Given the description of an element on the screen output the (x, y) to click on. 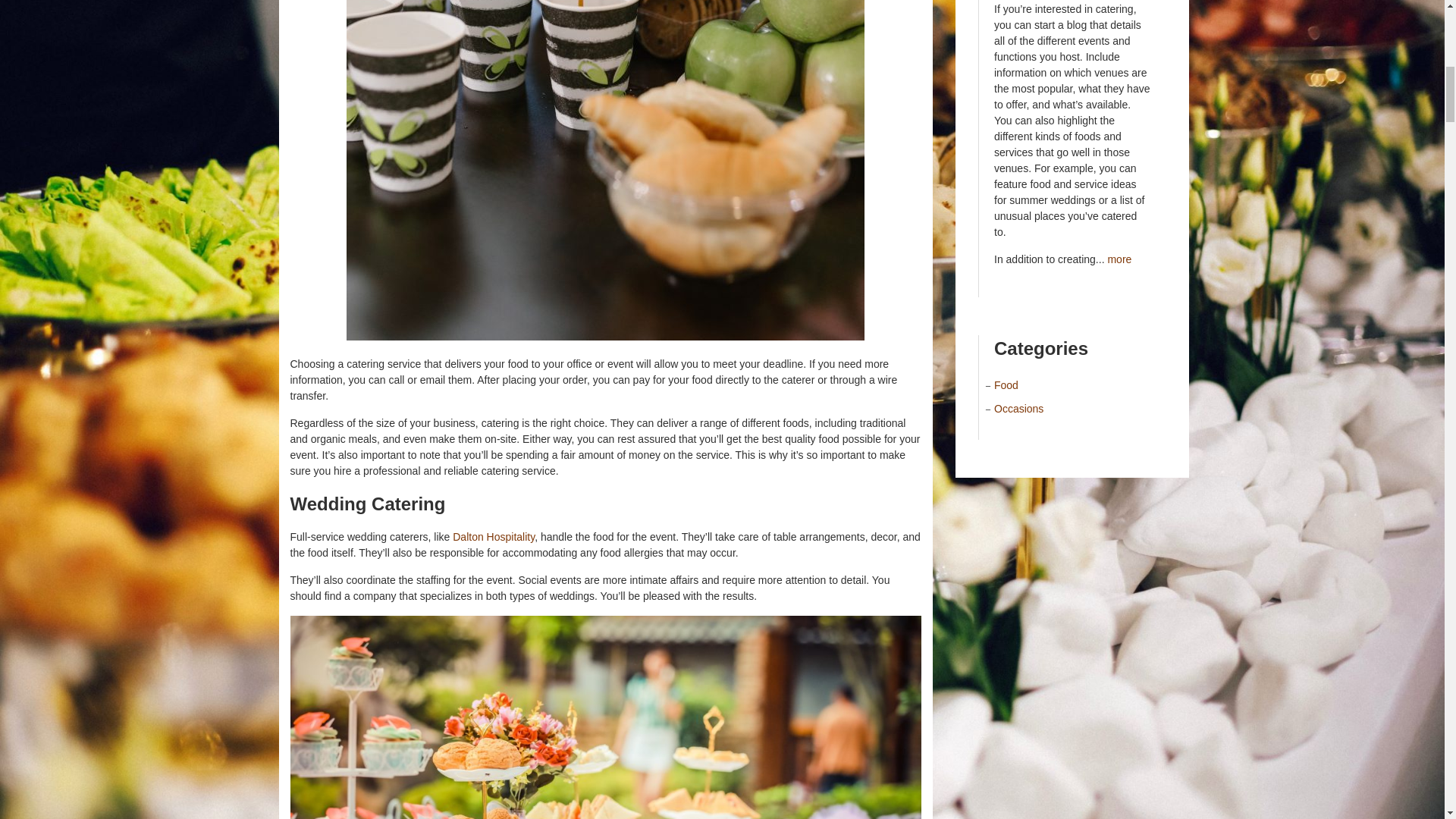
Dalton Hospitality (493, 536)
